Given the description of an element on the screen output the (x, y) to click on. 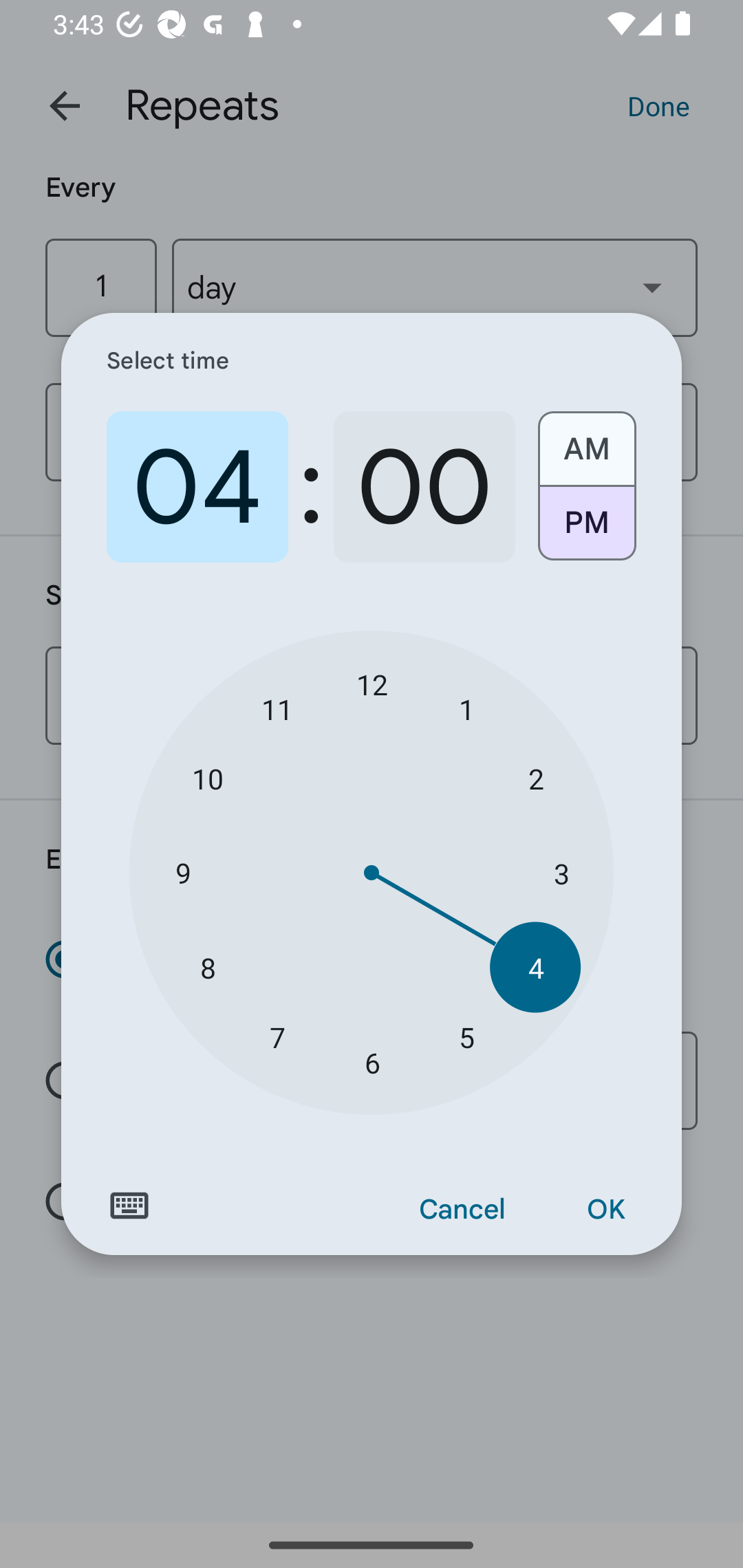
AM (586, 441)
04 4 o'clock (197, 486)
00 0 minutes (424, 486)
PM (586, 529)
12 12 o'clock (371, 683)
11 11 o'clock (276, 708)
1 1 o'clock (466, 708)
10 10 o'clock (207, 778)
2 2 o'clock (535, 778)
9 9 o'clock (182, 872)
3 3 o'clock (561, 872)
8 8 o'clock (207, 966)
4 4 o'clock (535, 966)
7 7 o'clock (276, 1035)
5 5 o'clock (466, 1035)
6 6 o'clock (371, 1062)
Switch to text input mode for the time input. (128, 1205)
Cancel (462, 1209)
OK (605, 1209)
